Given the description of an element on the screen output the (x, y) to click on. 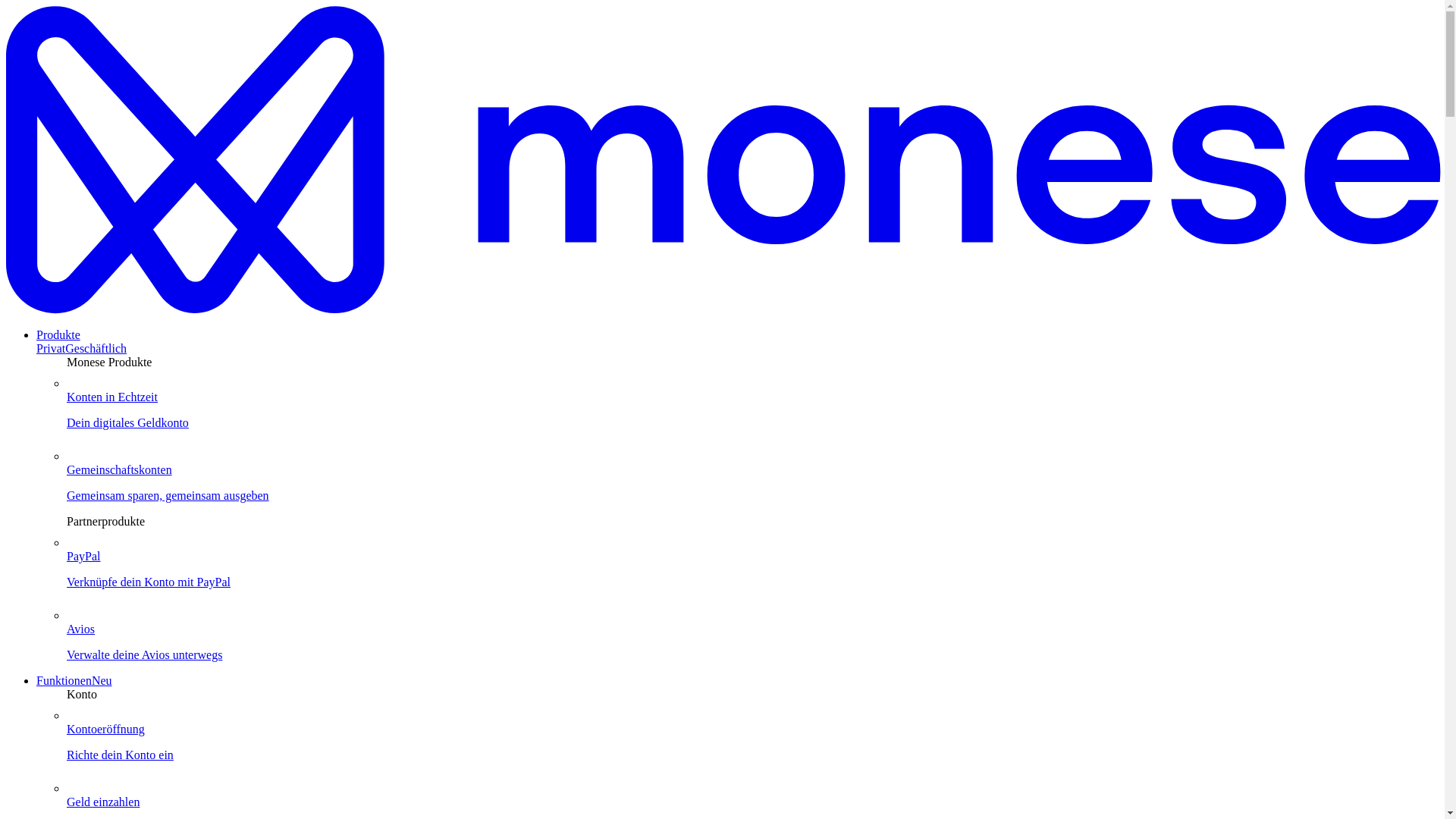
FunktionenNeu (74, 680)
Produkte (58, 334)
Privat (50, 348)
